Given the description of an element on the screen output the (x, y) to click on. 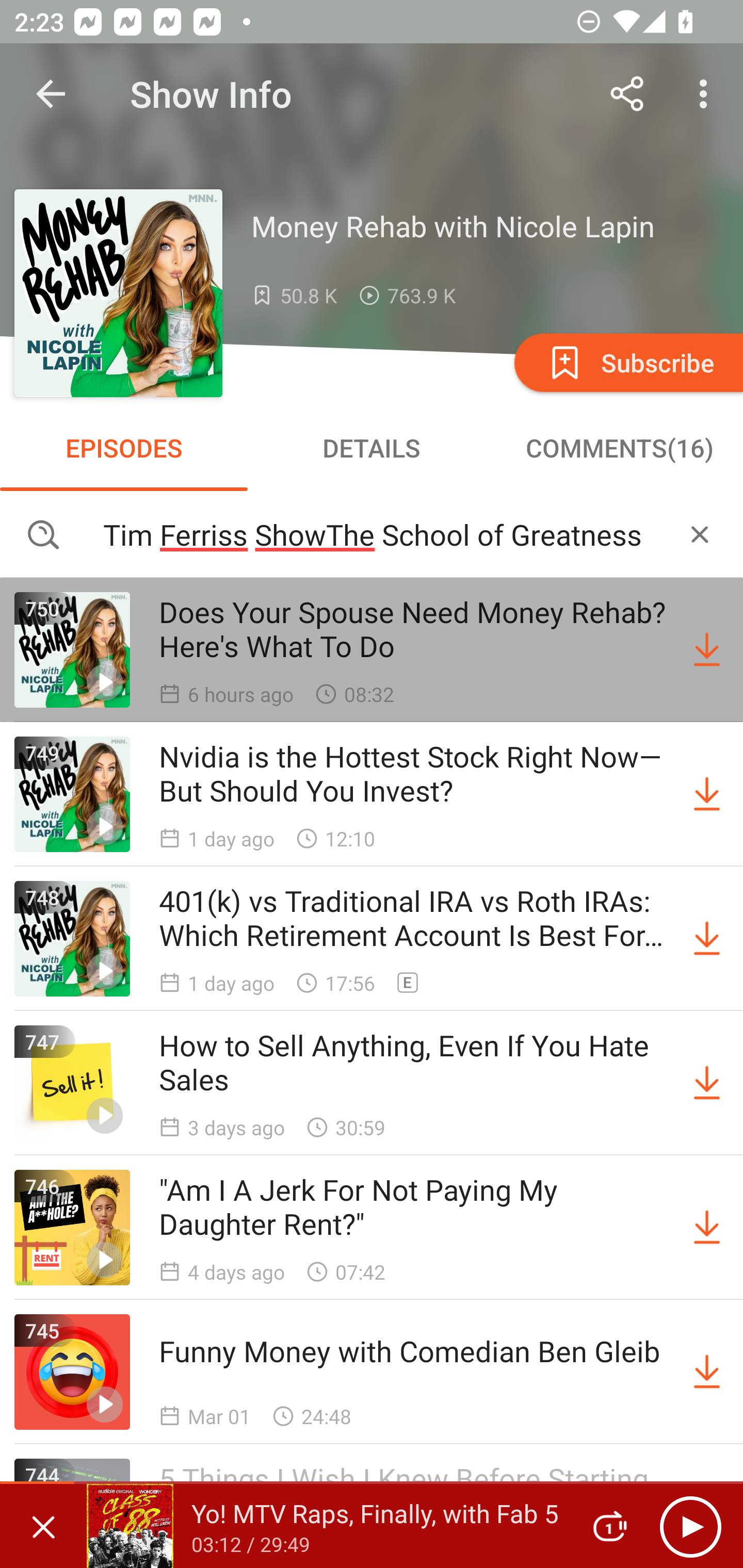
Navigate up (50, 93)
Share (626, 93)
More options (706, 93)
Subscribe (627, 361)
EPISODES (123, 447)
DETAILS (371, 447)
COMMENTS(16) (619, 447)
 CANCEL (699, 533)
The Tim Ferriss ShowThe School of Greatness Search (371, 533)
Download (706, 649)
Download (706, 793)
Download (706, 939)
Download (706, 1083)
Download (706, 1227)
Download (706, 1371)
Play (690, 1526)
